Given the description of an element on the screen output the (x, y) to click on. 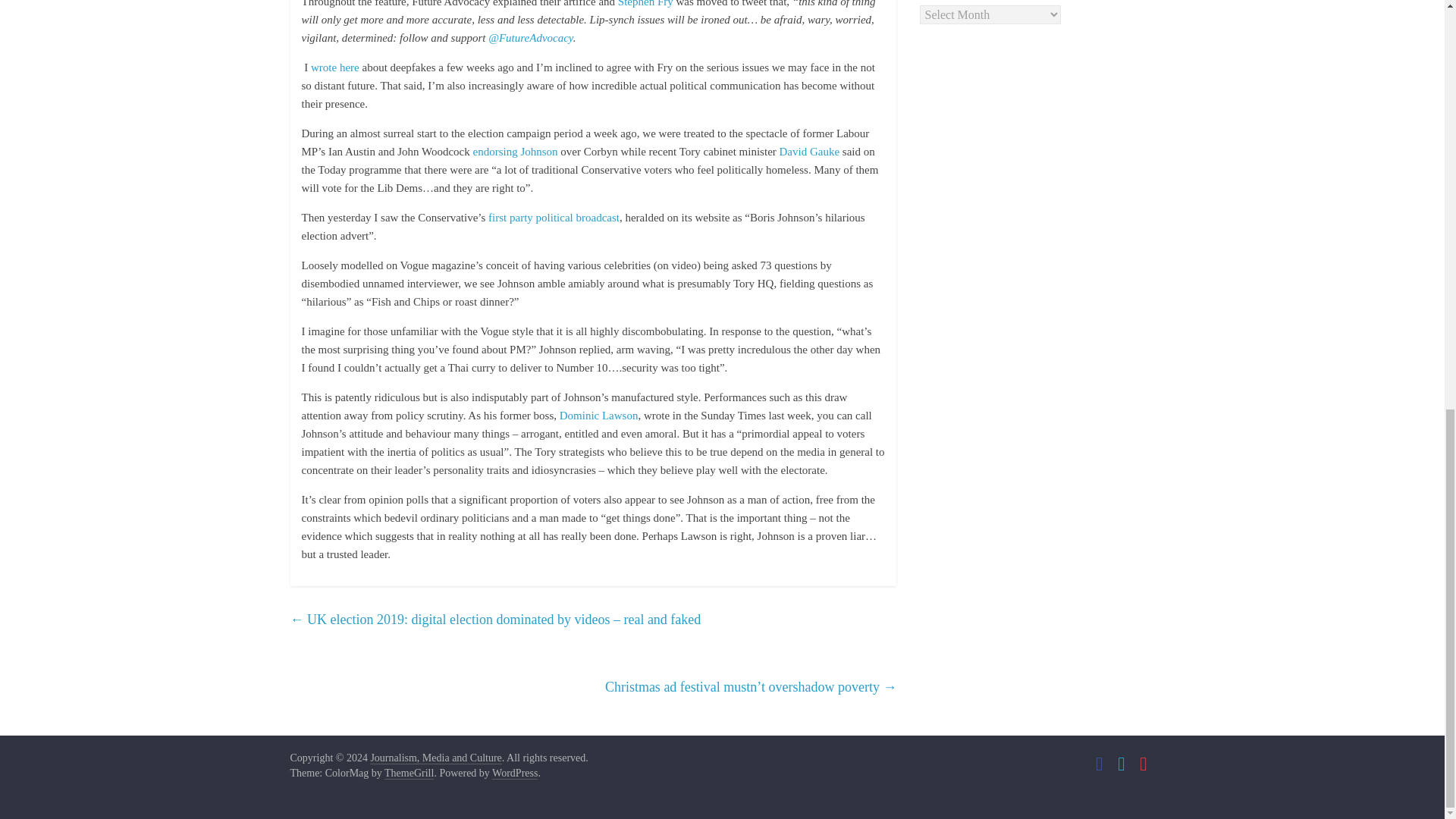
Journalism, Media and Culture (434, 758)
Stephen Fry (644, 3)
first party political broadcast (552, 217)
ThemeGrill (408, 773)
WordPress (514, 773)
David Gauke (809, 151)
endorsing Johnson (516, 151)
Dominic Lawson (599, 415)
wrote here (336, 67)
